Given the description of an element on the screen output the (x, y) to click on. 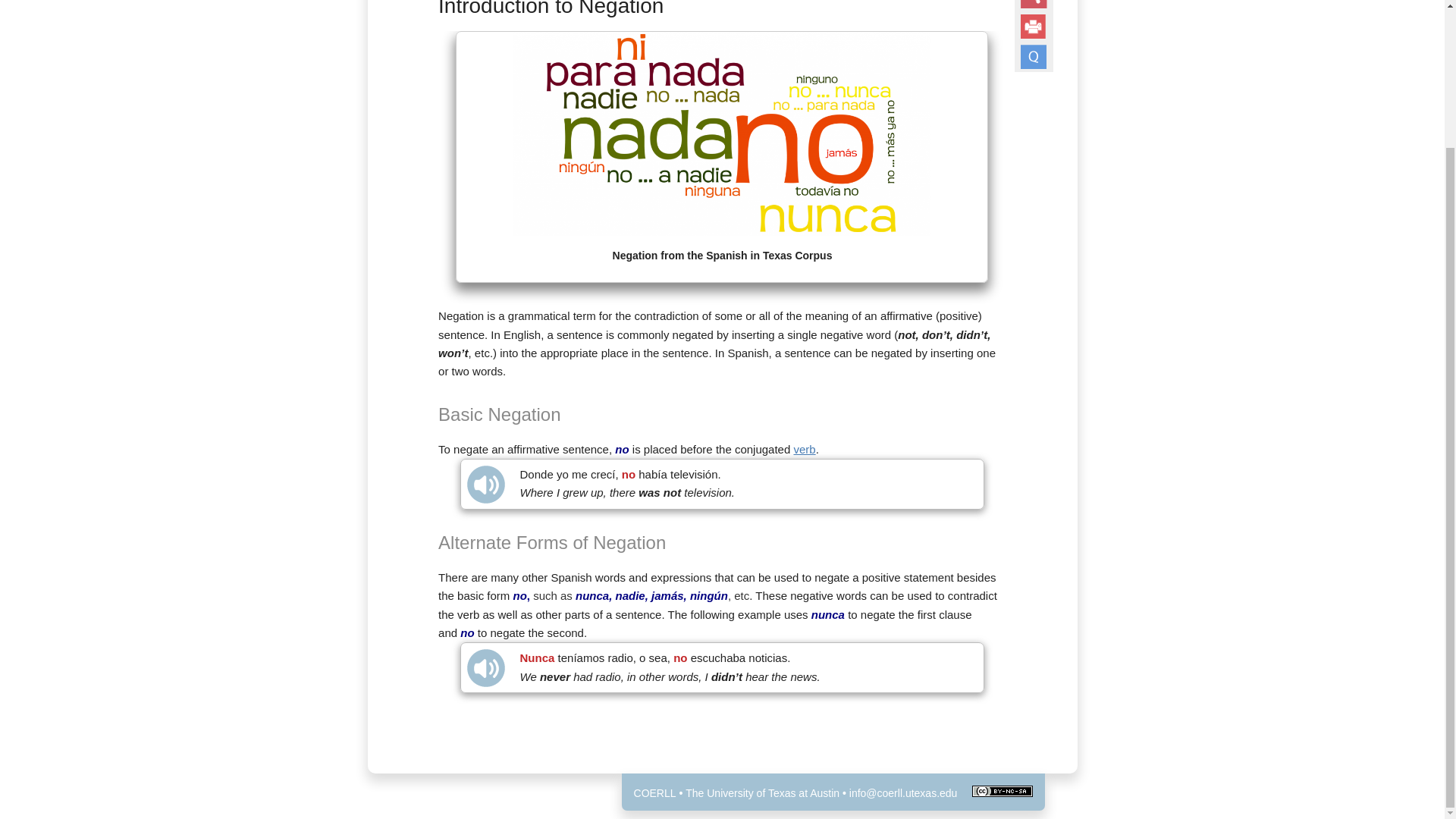
Email questions or comments (903, 793)
Practice Quizzes: negation (1033, 56)
Share this Page (1033, 4)
